Given the description of an element on the screen output the (x, y) to click on. 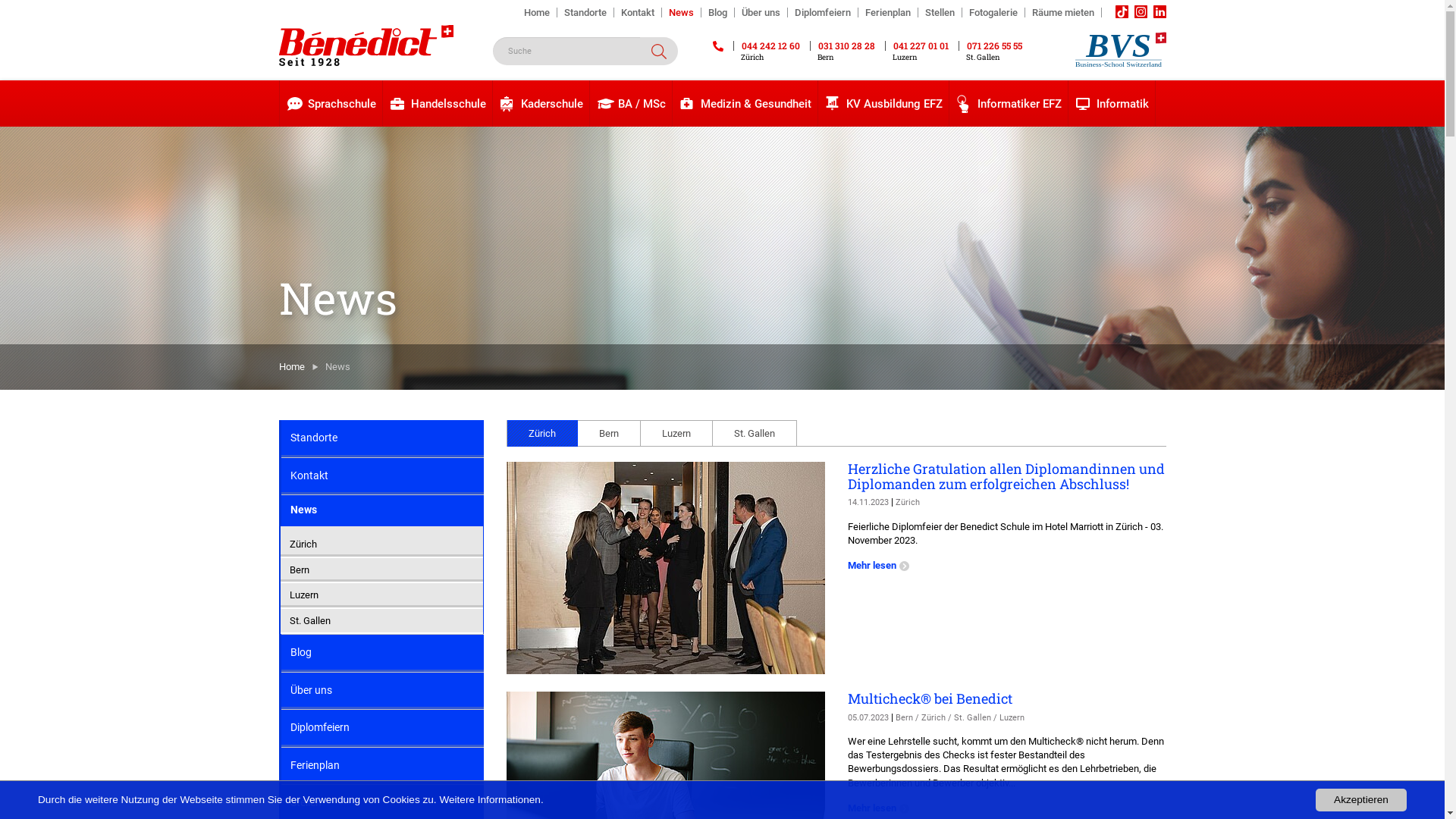
BA / MSc Element type: text (630, 103)
Kontakt Element type: text (638, 12)
Handelsschule Element type: text (436, 103)
Kaderschule Element type: text (540, 103)
News Element type: text (680, 12)
Akzeptieren Element type: text (1360, 799)
071 226 55 55 Element type: text (990, 45)
Mehr lesen Element type: text (879, 565)
Stellen Element type: text (939, 12)
Diplomfeiern Element type: text (822, 12)
Ferienplan Element type: text (381, 765)
Luzern Element type: text (676, 433)
Luzern Element type: text (381, 595)
041 227 01 01 Element type: text (915, 45)
St. Gallen Element type: text (754, 433)
Medizin & Gesundheit Element type: text (743, 103)
KV Ausbildung EFZ Element type: text (882, 103)
Home Element type: text (537, 12)
Blog Element type: text (717, 12)
Weitere Informationen. Element type: text (490, 799)
Sprachschule Element type: text (330, 103)
Bern Element type: text (608, 433)
St. Gallen Element type: text (381, 620)
Standorte Element type: text (381, 438)
  Element type: text (1140, 11)
Mehr lesen Element type: text (879, 807)
Kontakt Element type: text (381, 476)
Bern Element type: text (381, 570)
031 310 28 28 Element type: text (842, 45)
Fotogalerie Element type: text (992, 12)
Diplomfeiern Element type: text (381, 727)
Blog Element type: text (381, 652)
Ferienplan Element type: text (888, 12)
Informatiker EFZ Element type: text (1008, 103)
Standorte Element type: text (584, 12)
Informatik Element type: text (1110, 103)
044 242 12 60 Element type: text (765, 45)
Home Element type: text (291, 366)
News Element type: text (381, 510)
